Given the description of an element on the screen output the (x, y) to click on. 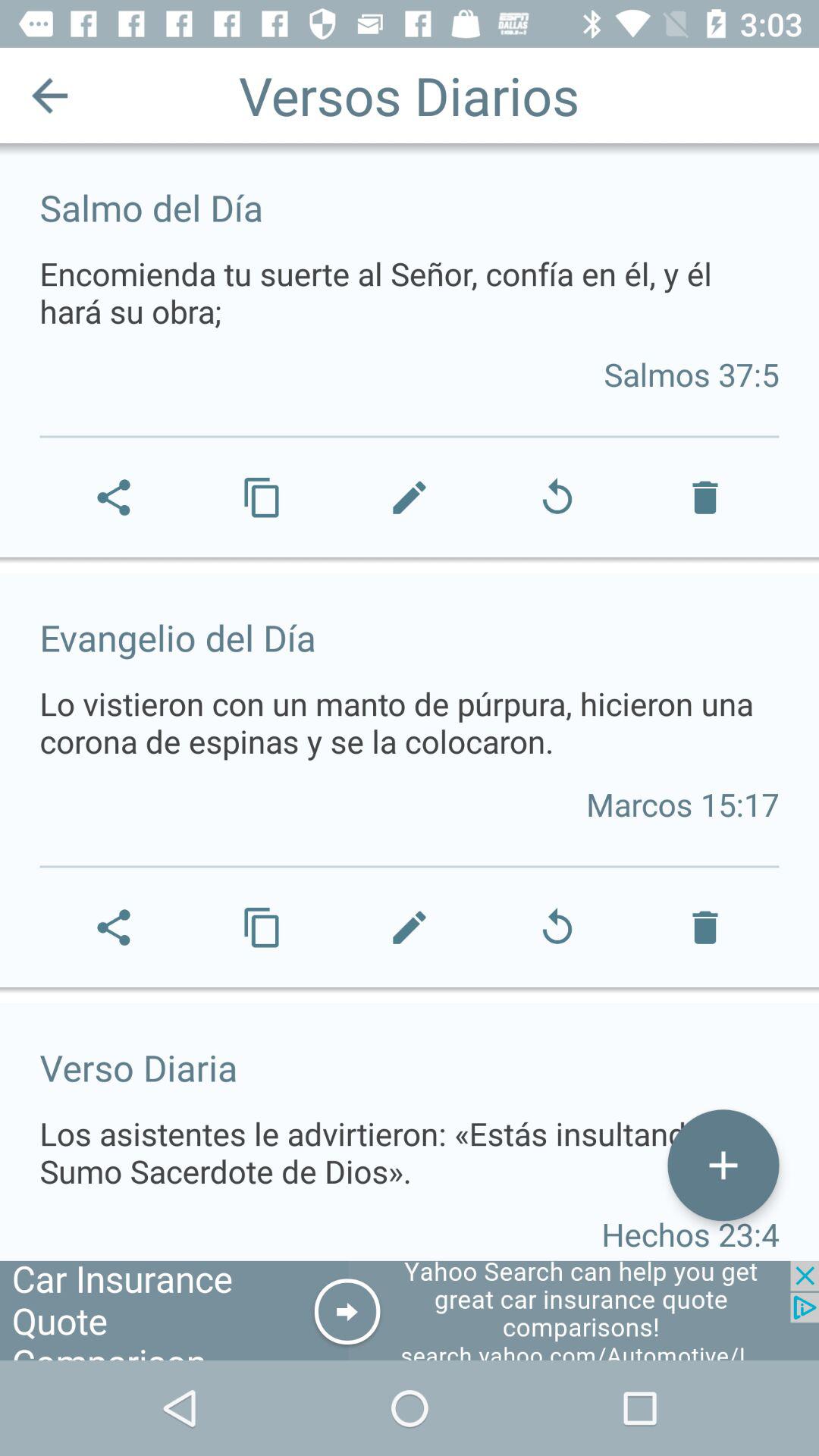
turn on the item at the top left corner (49, 95)
